Given the description of an element on the screen output the (x, y) to click on. 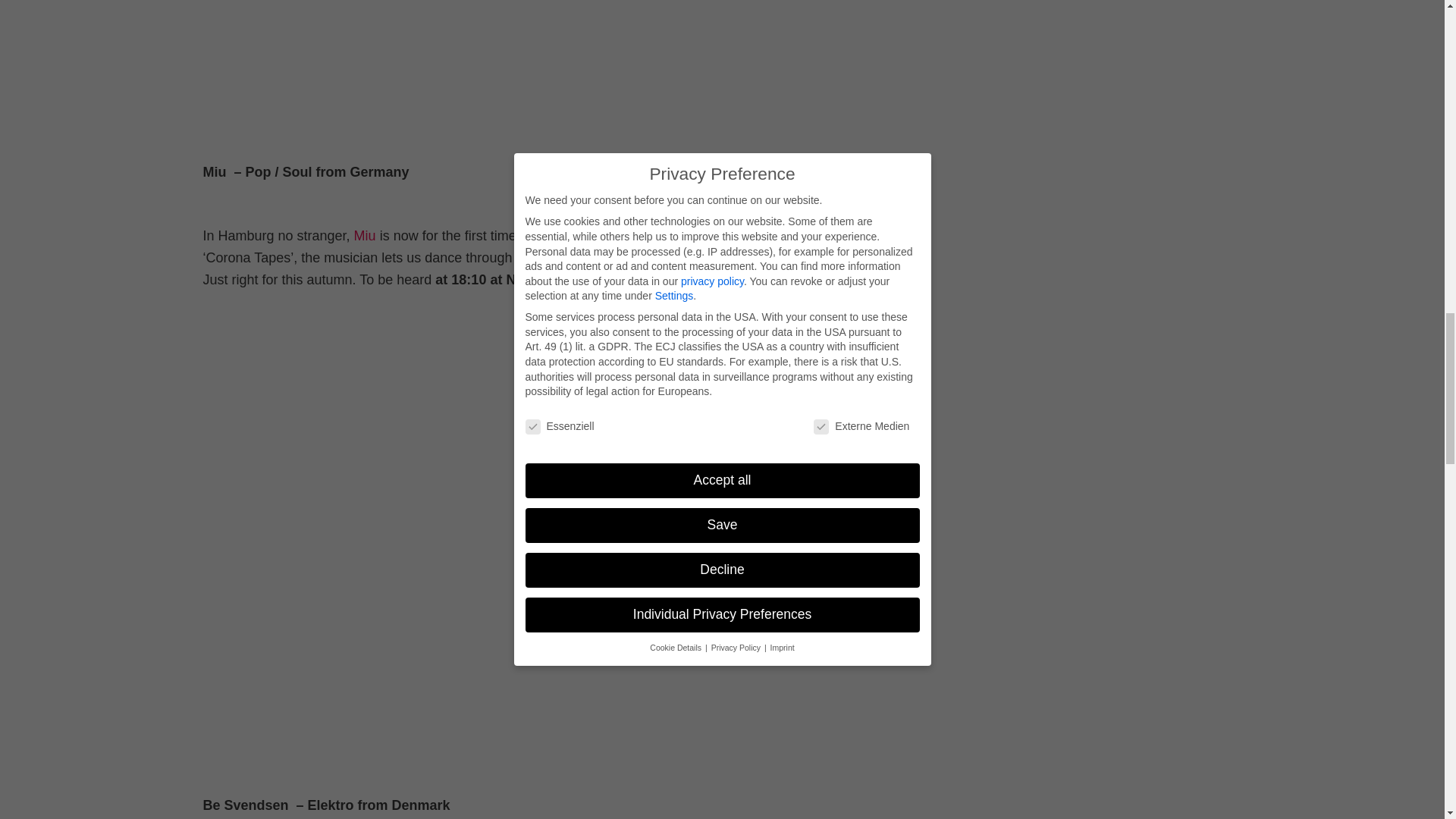
Miu (364, 235)
1 (219, 269)
Video laden (233, 798)
